Given the description of an element on the screen output the (x, y) to click on. 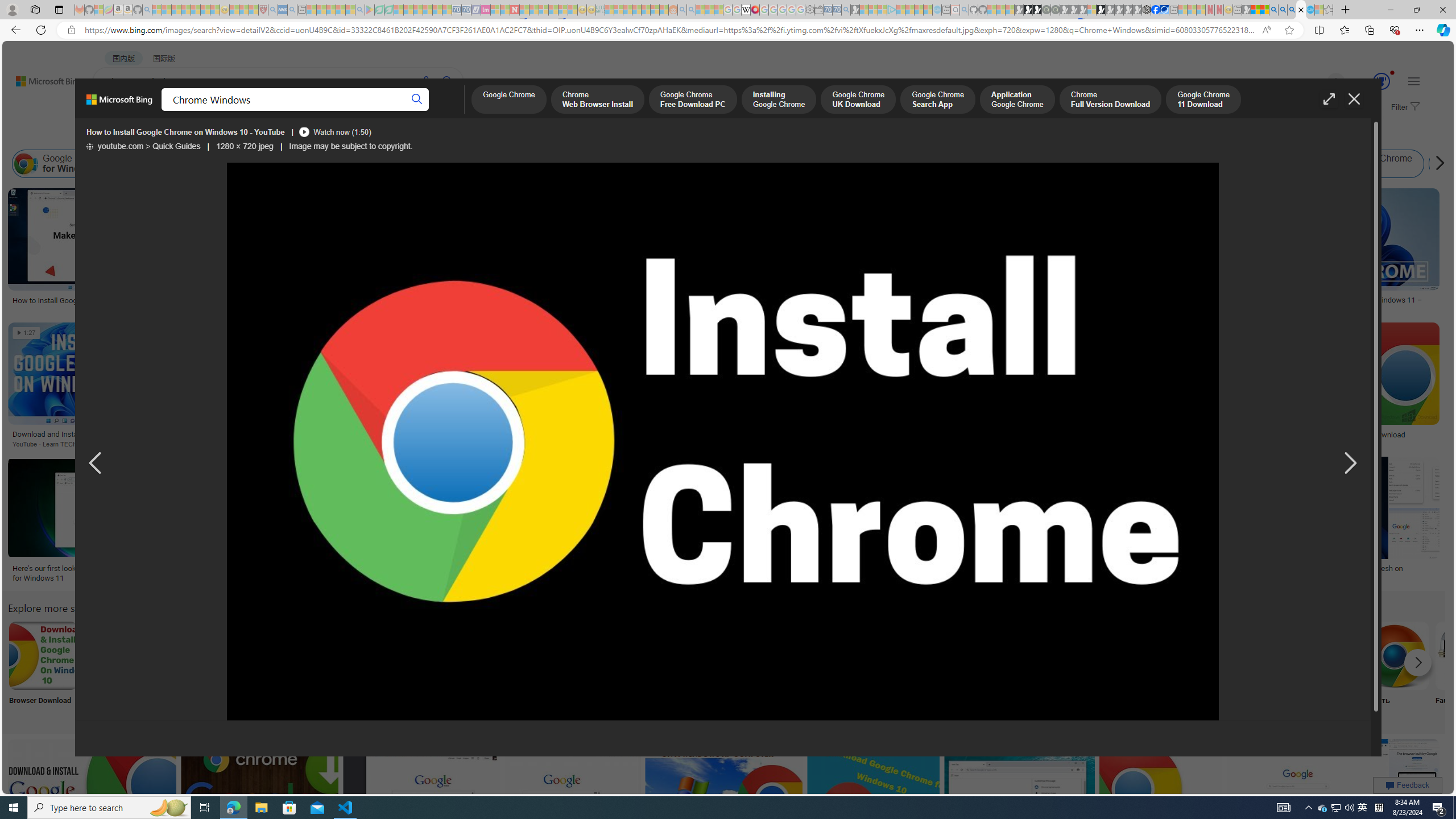
Terms of Use Agreement - Sleeping (378, 9)
Local - MSN - Sleeping (253, 9)
Chrome Search Bar Search Bar (868, 669)
Installing Chrome On Windows 8: Everything You Need To Know (536, 299)
DITOGAMES AG Imprint - Sleeping (600, 9)
Nordace - Cooler Bags (1146, 9)
Image size (127, 135)
Windows XP Google Chrome (192, 654)
About Google Chrome About Google (342, 669)
Install chrome for windows 10 - radicallio (1165, 434)
Watch now (1:50) (334, 131)
